Given the description of an element on the screen output the (x, y) to click on. 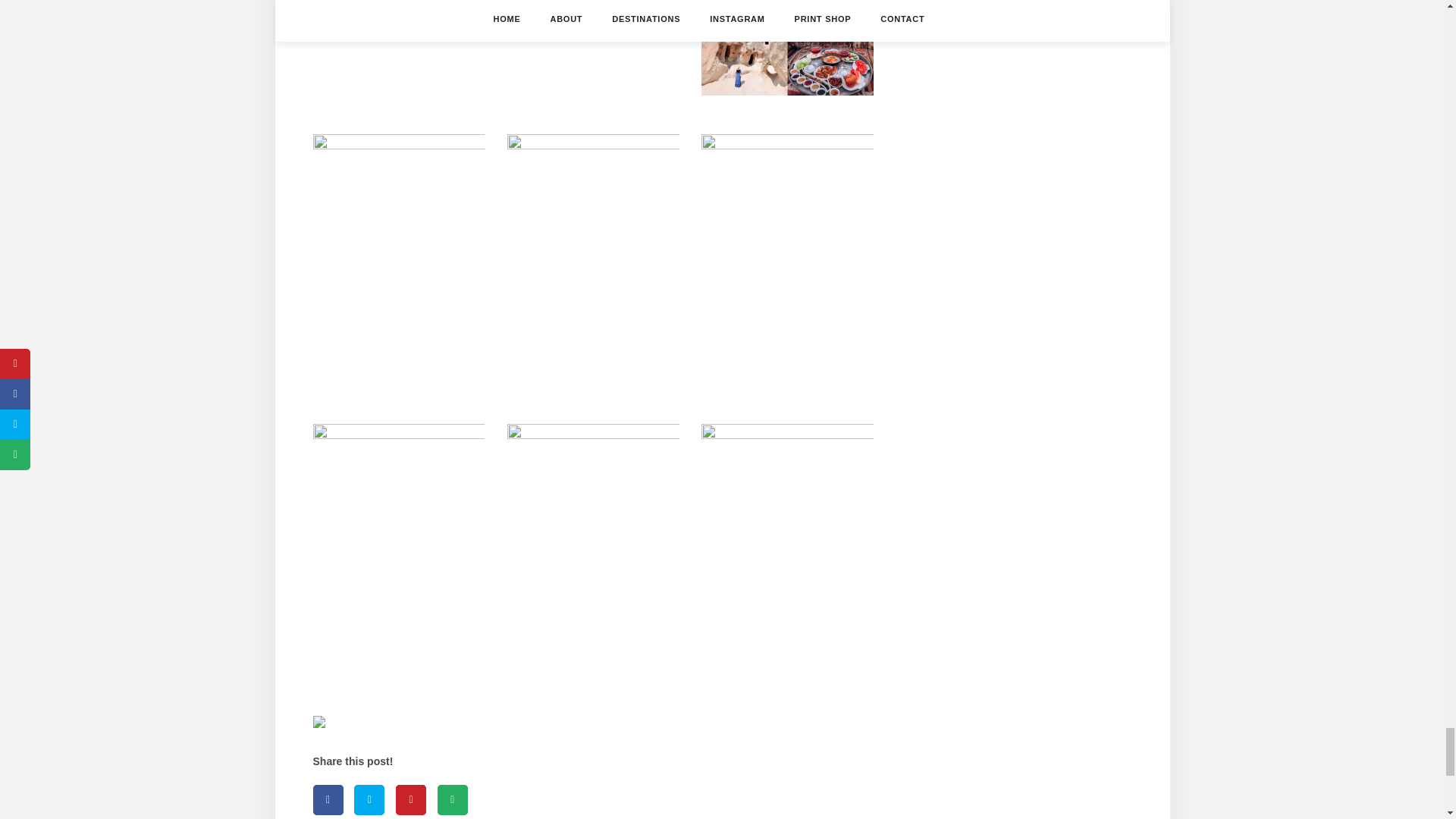
Share on Facebook (327, 799)
Share on Twitter (368, 799)
Save to Pinterest (411, 799)
Send over email (452, 799)
